Given the description of an element on the screen output the (x, y) to click on. 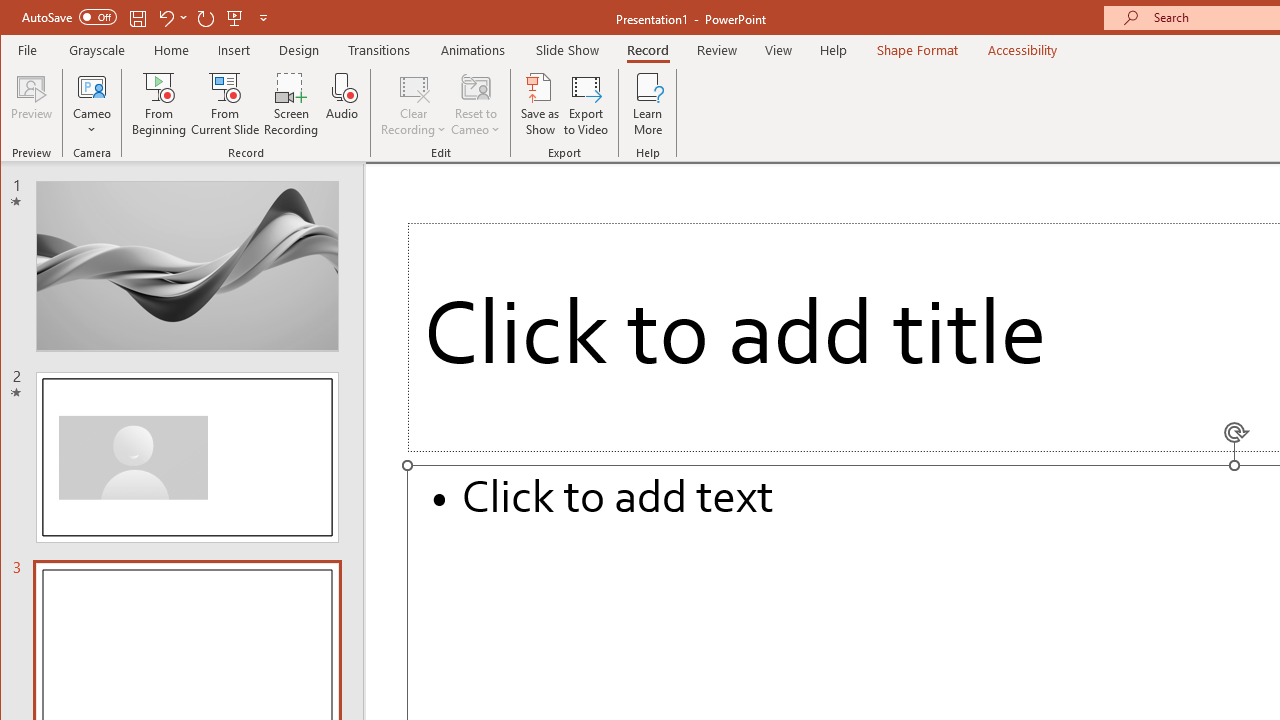
Review (717, 50)
Design (299, 50)
Audio (342, 104)
Shape Format (916, 50)
Accessibility (1023, 50)
From Current Slide... (225, 104)
Clear Recording (413, 104)
Help (833, 50)
From Beginning (235, 17)
AutoSave (68, 16)
Home (171, 50)
Cameo (91, 104)
Customize Quick Access Toolbar (263, 17)
